Given the description of an element on the screen output the (x, y) to click on. 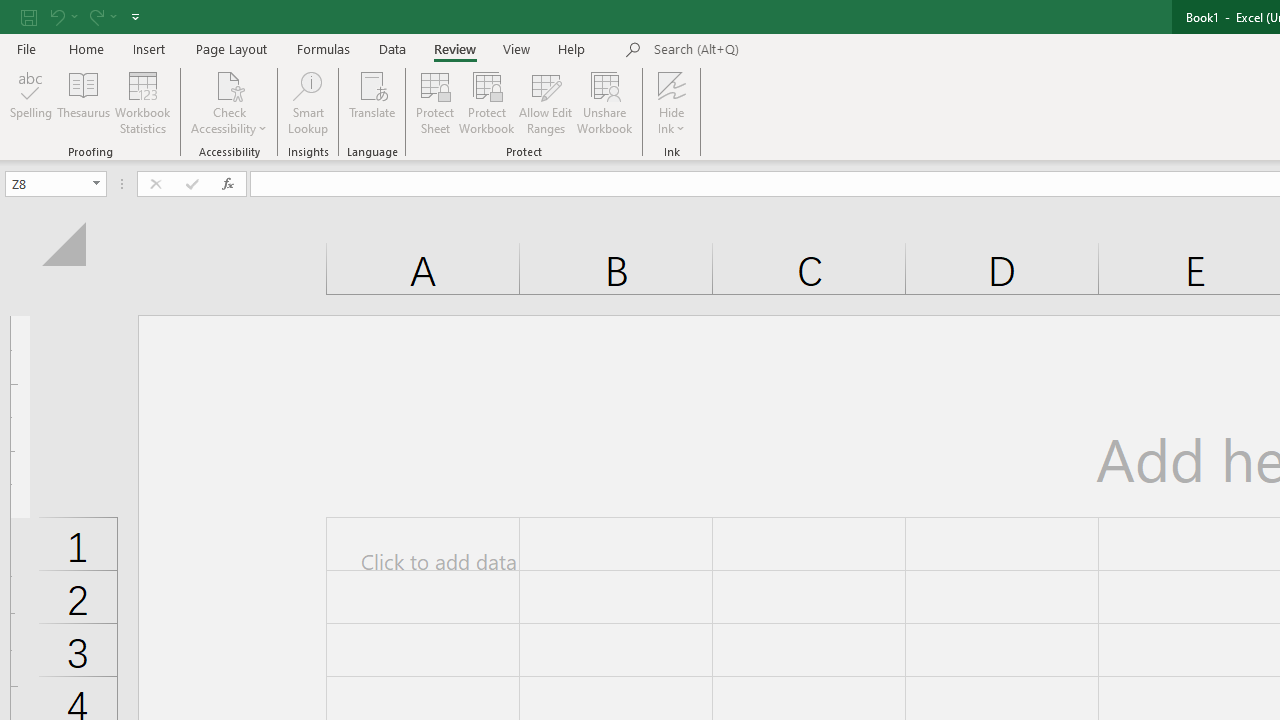
Smart Lookup (308, 102)
Unshare Workbook (604, 102)
Protect Workbook... (486, 102)
Thesaurus... (83, 102)
Hide Ink (671, 84)
Microsoft search (792, 49)
Allow Edit Ranges (545, 102)
Check Accessibility (229, 102)
